Given the description of an element on the screen output the (x, y) to click on. 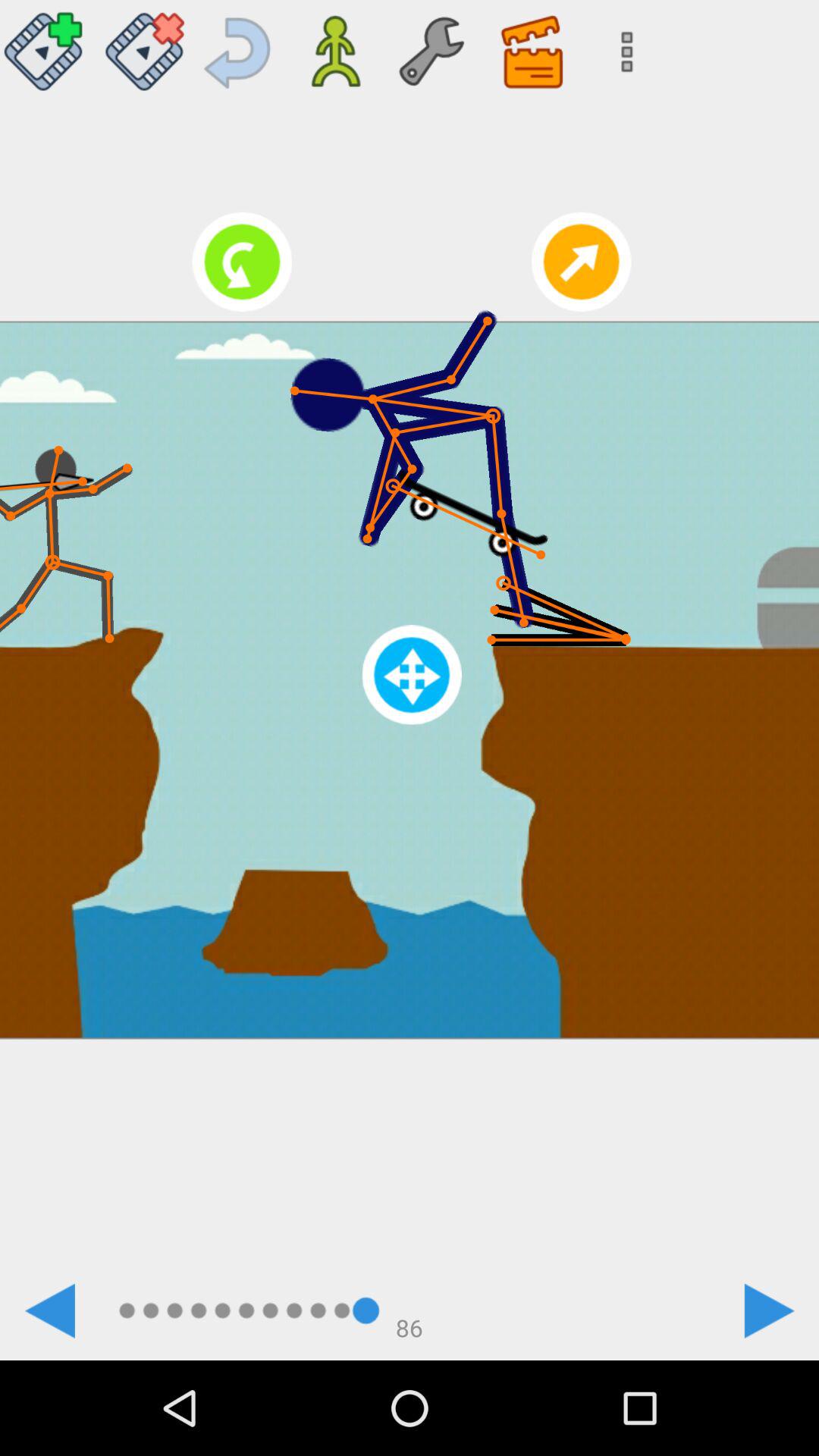
open the icon at the bottom right corner (769, 1310)
